Given the description of an element on the screen output the (x, y) to click on. 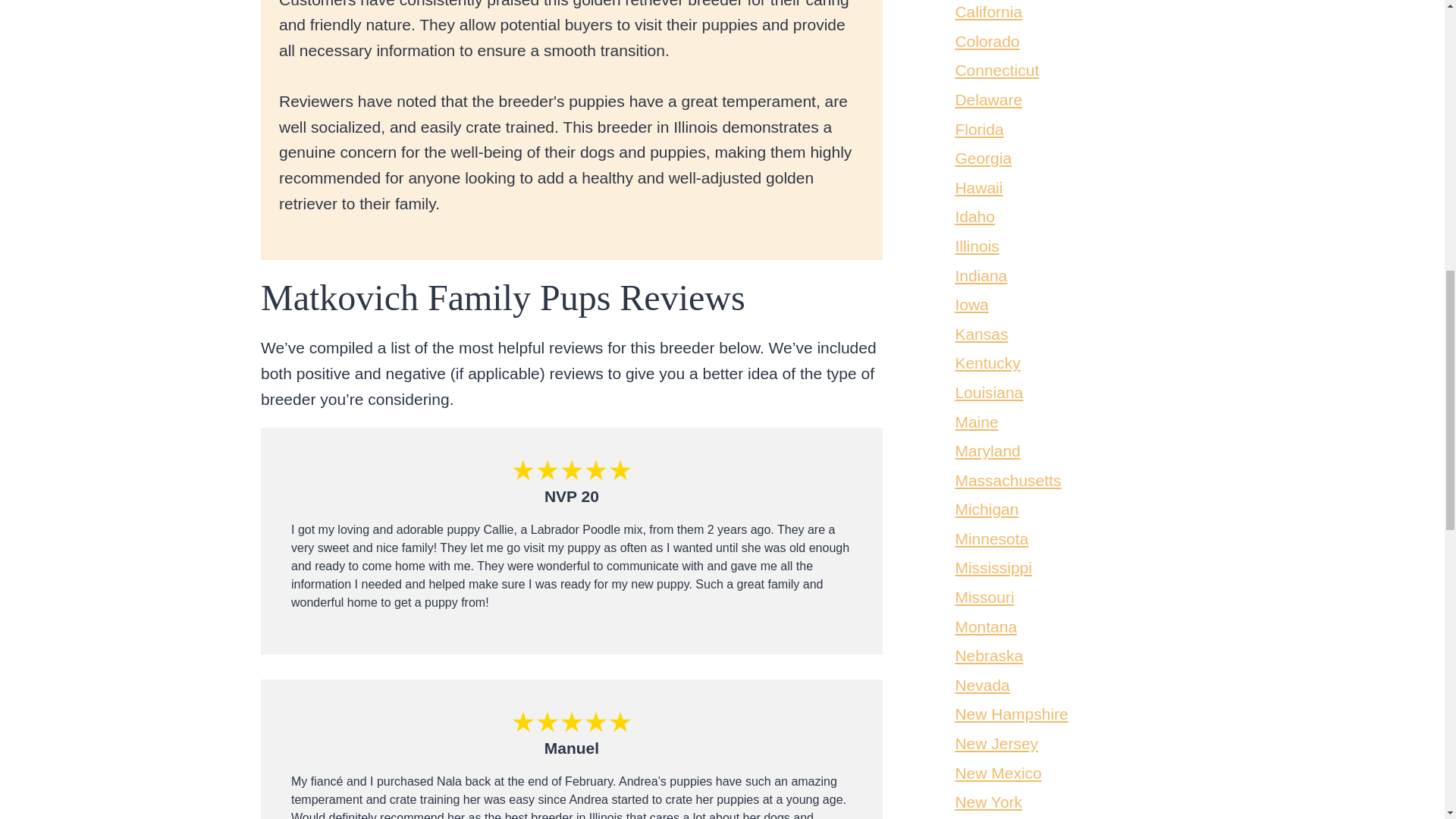
Idaho (974, 216)
Colorado (987, 40)
Illinois (976, 245)
Delaware (988, 99)
Indiana (981, 275)
Hawaii (979, 187)
California (988, 11)
Connecticut (997, 69)
Iowa (971, 303)
Florida (979, 129)
Georgia (983, 158)
